Given the description of an element on the screen output the (x, y) to click on. 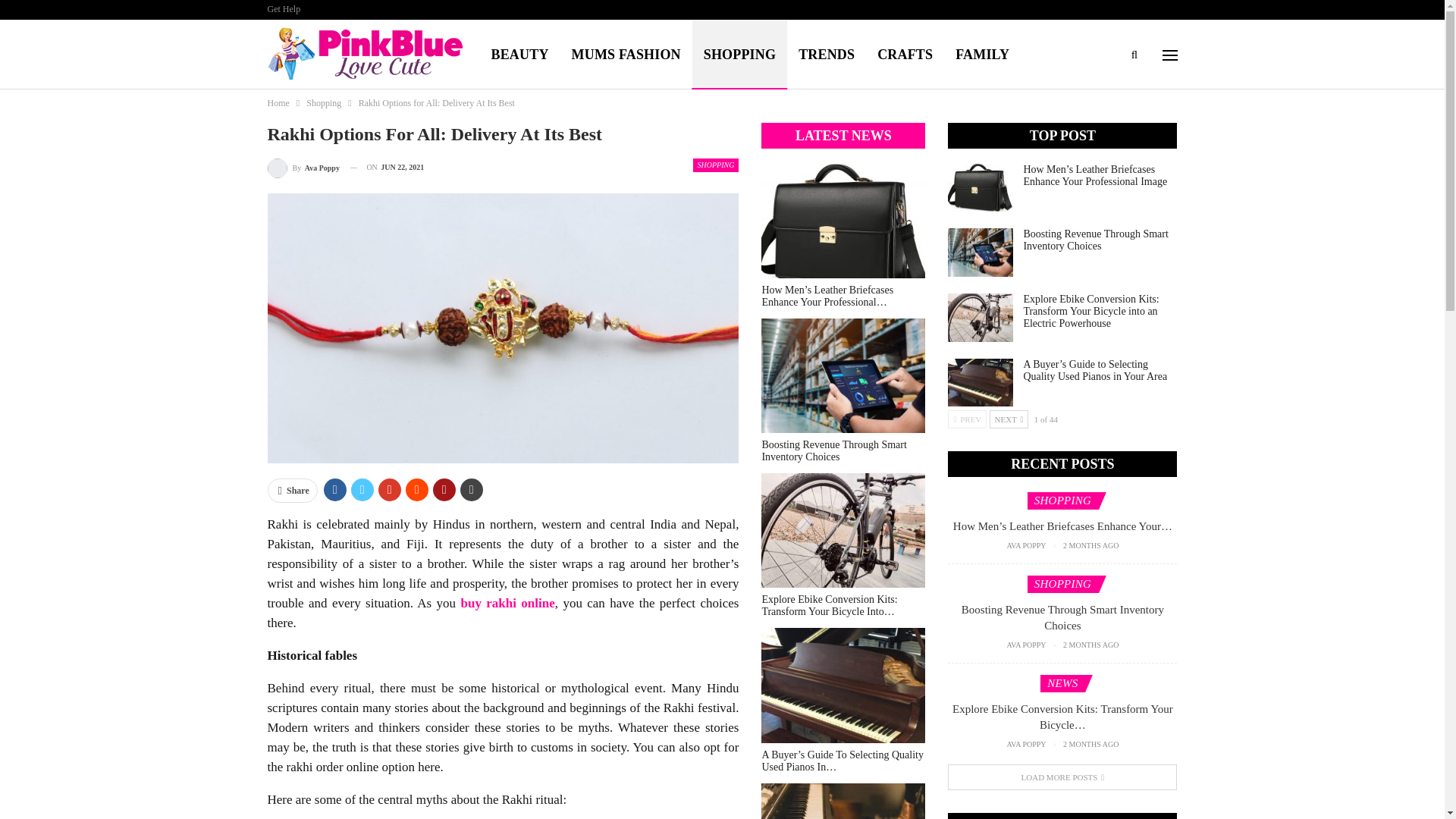
By Ava Poppy (302, 168)
BEAUTY (520, 54)
Home (277, 103)
Boosting Revenue Through Smart Inventory Choices (980, 252)
SHOPPING (716, 164)
Browse Author Articles (302, 168)
CRAFTS (904, 54)
SCHOOLING (534, 122)
FAMILY (981, 54)
Get Help (282, 9)
Shopping (322, 103)
SHOPPING (740, 54)
MORE (620, 122)
MUMS FASHION (626, 54)
TRENDS (826, 54)
